Given the description of an element on the screen output the (x, y) to click on. 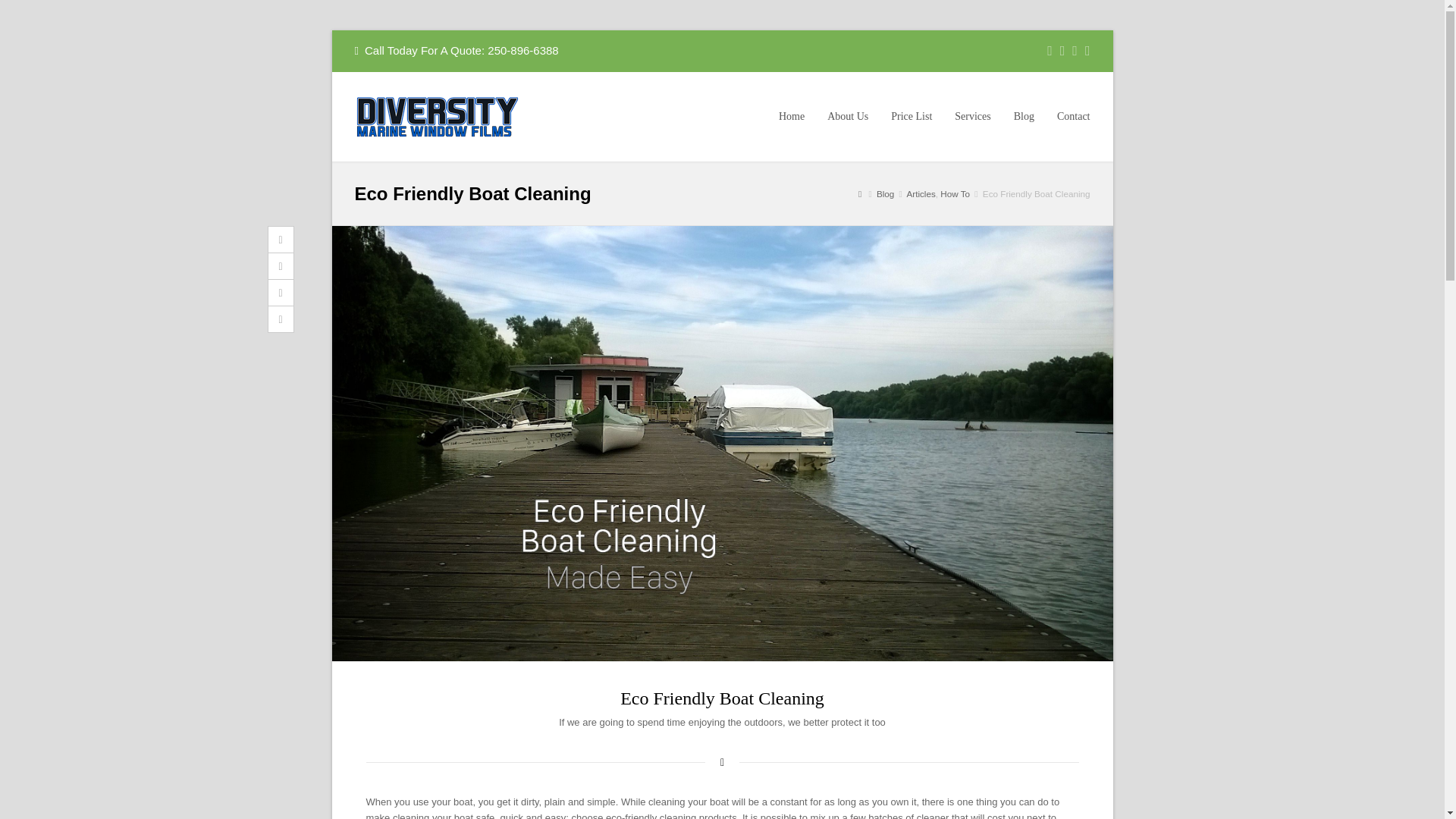
Price List (911, 116)
Diversity Marine Films (436, 115)
Articles (919, 194)
About Us (847, 116)
Blog (884, 194)
How To (954, 194)
Contact (1073, 116)
Share on Pinterest (280, 319)
How To (954, 194)
Blog (884, 194)
Services (972, 116)
Share on Facebook (280, 266)
Share on Twitter (280, 239)
Blog (1024, 116)
Home (791, 116)
